Given the description of an element on the screen output the (x, y) to click on. 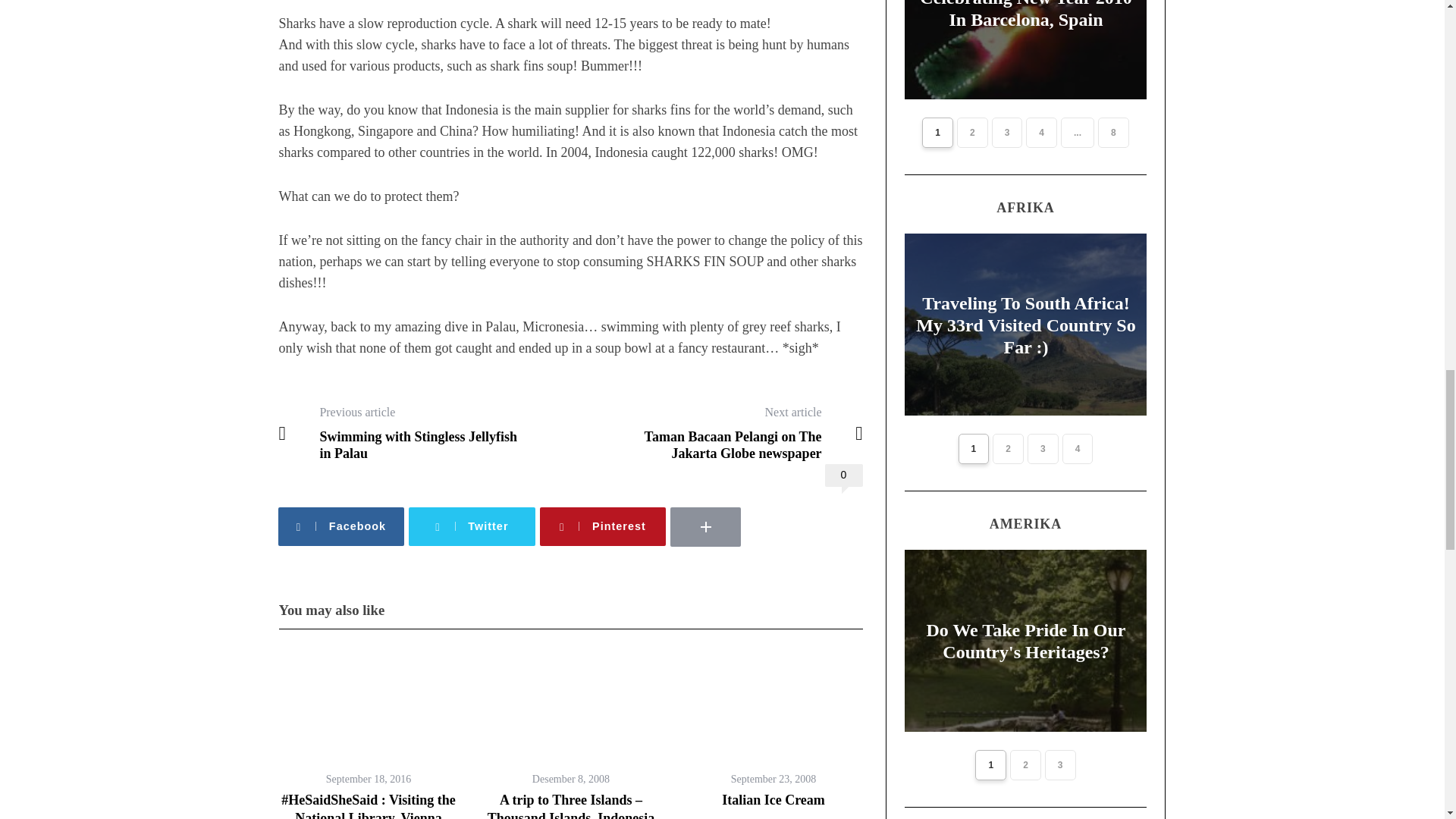
0 (423, 432)
